Given the description of an element on the screen output the (x, y) to click on. 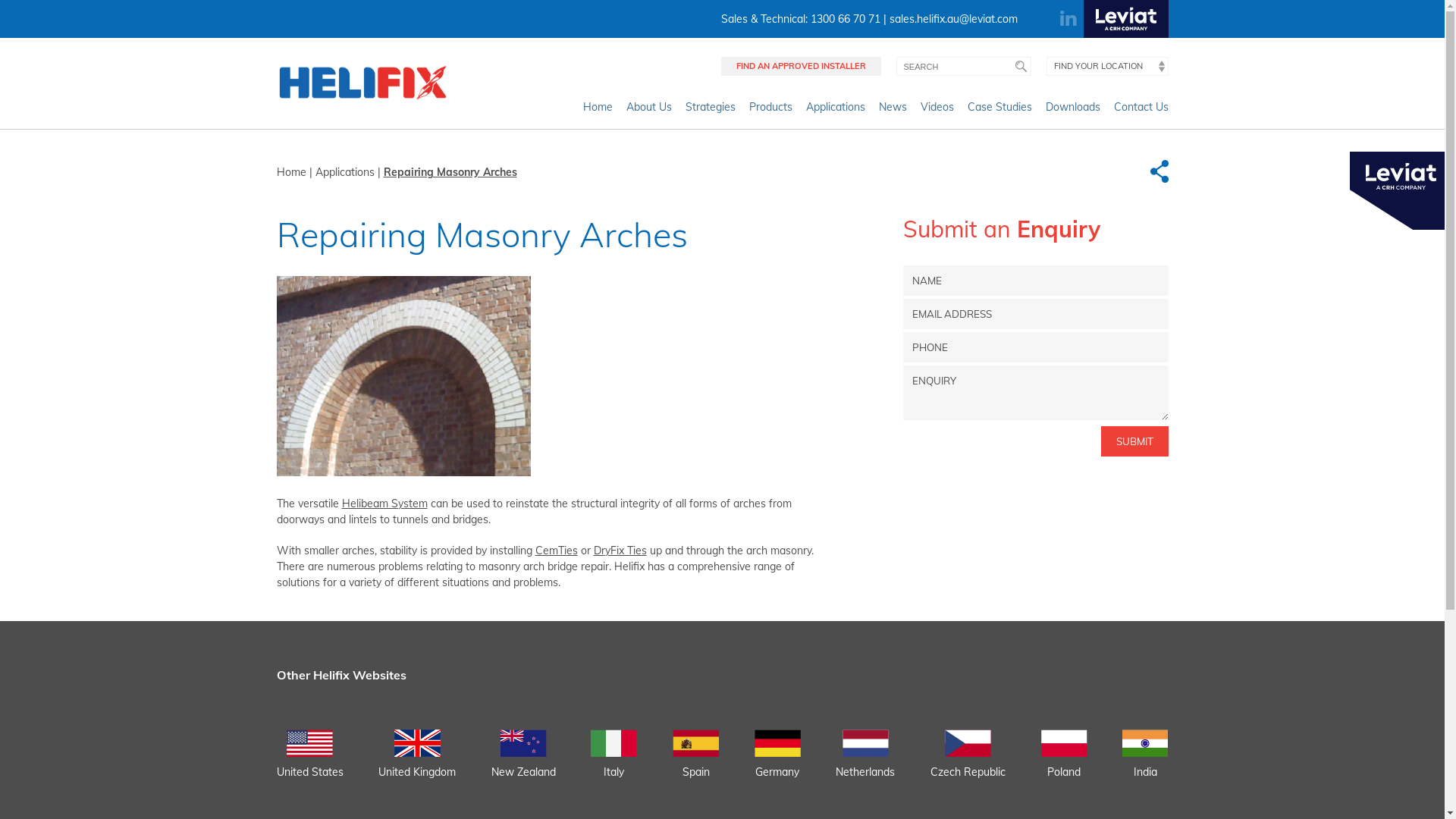
Czech Republic Element type: text (967, 762)
Videos Element type: text (936, 110)
India Element type: text (1144, 762)
Germany Element type: text (777, 762)
Applications Element type: text (344, 171)
Repairing Masonry Arches Element type: text (450, 171)
Contact Us Element type: text (1140, 110)
About Us Element type: text (648, 110)
FIND AN APPROVED INSTALLER Element type: text (800, 65)
LinkedIn Element type: text (1069, 18)
Applications Element type: text (834, 110)
Products Element type: text (770, 110)
Home Element type: text (290, 171)
Italy Element type: text (613, 762)
Poland Element type: text (1064, 762)
CemTies Element type: text (556, 550)
Helibeam System Element type: text (383, 503)
DryFix Ties Element type: text (619, 550)
News Element type: text (892, 110)
Home Element type: text (596, 110)
United Kingdom Element type: text (416, 762)
New Zealand Element type: text (523, 762)
SUBMIT Element type: text (1134, 441)
United States Element type: text (309, 762)
Strategies Element type: text (710, 110)
Spain Element type: text (695, 762)
Downloads Element type: text (1071, 110)
Case Studies Element type: text (999, 110)
Netherlands Element type: text (864, 762)
Helifix Element type: hover (362, 82)
sales.helifix.au@leviat.com Element type: text (952, 18)
